Given the description of an element on the screen output the (x, y) to click on. 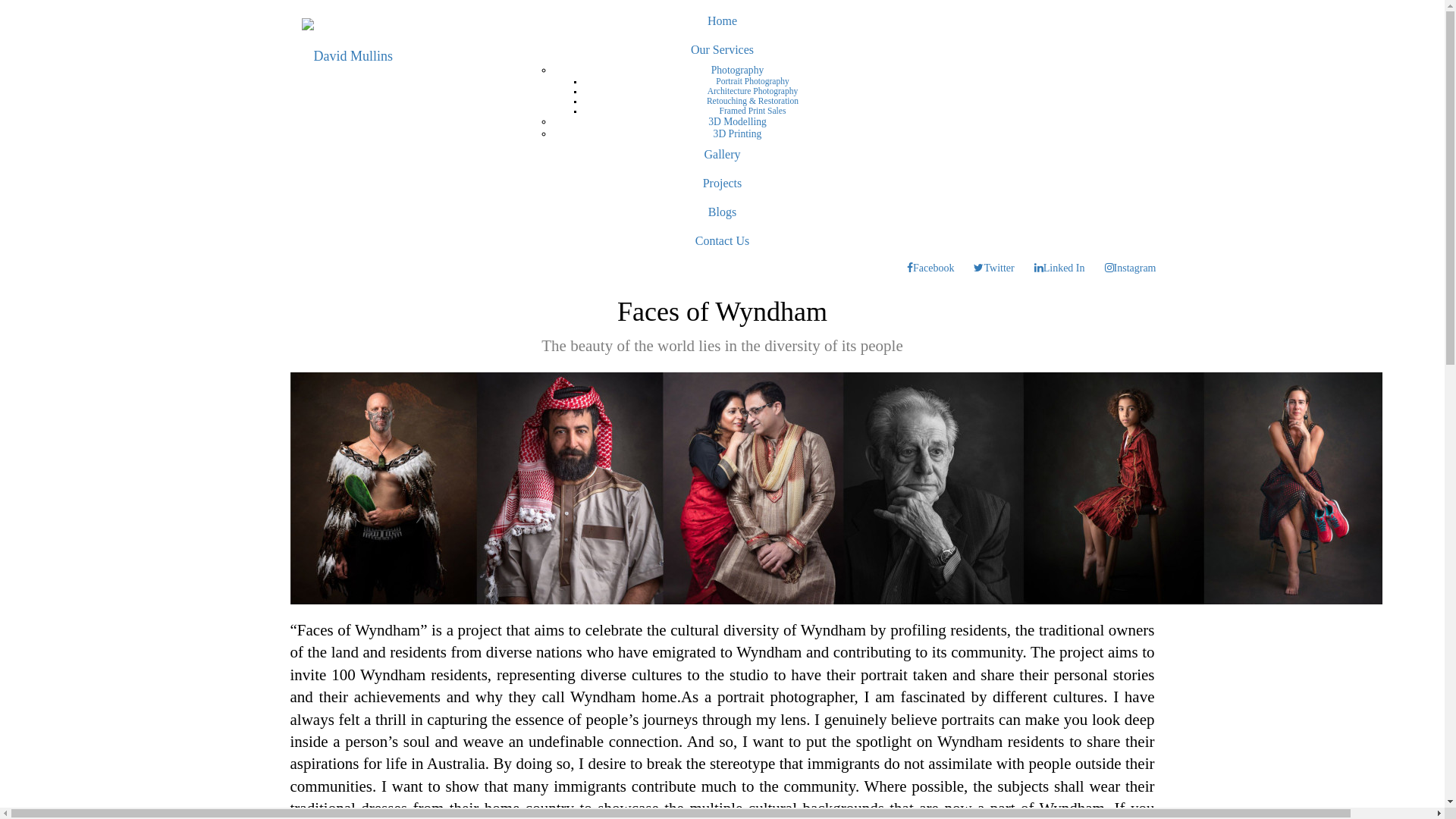
Photography Element type: text (737, 69)
Facebook Element type: text (930, 268)
Gallery Element type: text (722, 154)
David Mullins Element type: hover (346, 55)
Retouching & Restoration Element type: text (752, 101)
Linked In Element type: text (1059, 268)
Instagram Element type: text (1130, 268)
Architecture Photography Element type: text (752, 91)
Framed Print Sales Element type: text (752, 111)
3D Printing Element type: text (737, 133)
Blogs Element type: text (722, 211)
Twitter Element type: text (993, 268)
3D Modelling Element type: text (737, 121)
Our Services Element type: text (722, 49)
Home Element type: text (722, 20)
Projects Element type: text (722, 183)
Portrait Photography Element type: text (752, 81)
Contact Us Element type: text (722, 240)
